Given the description of an element on the screen output the (x, y) to click on. 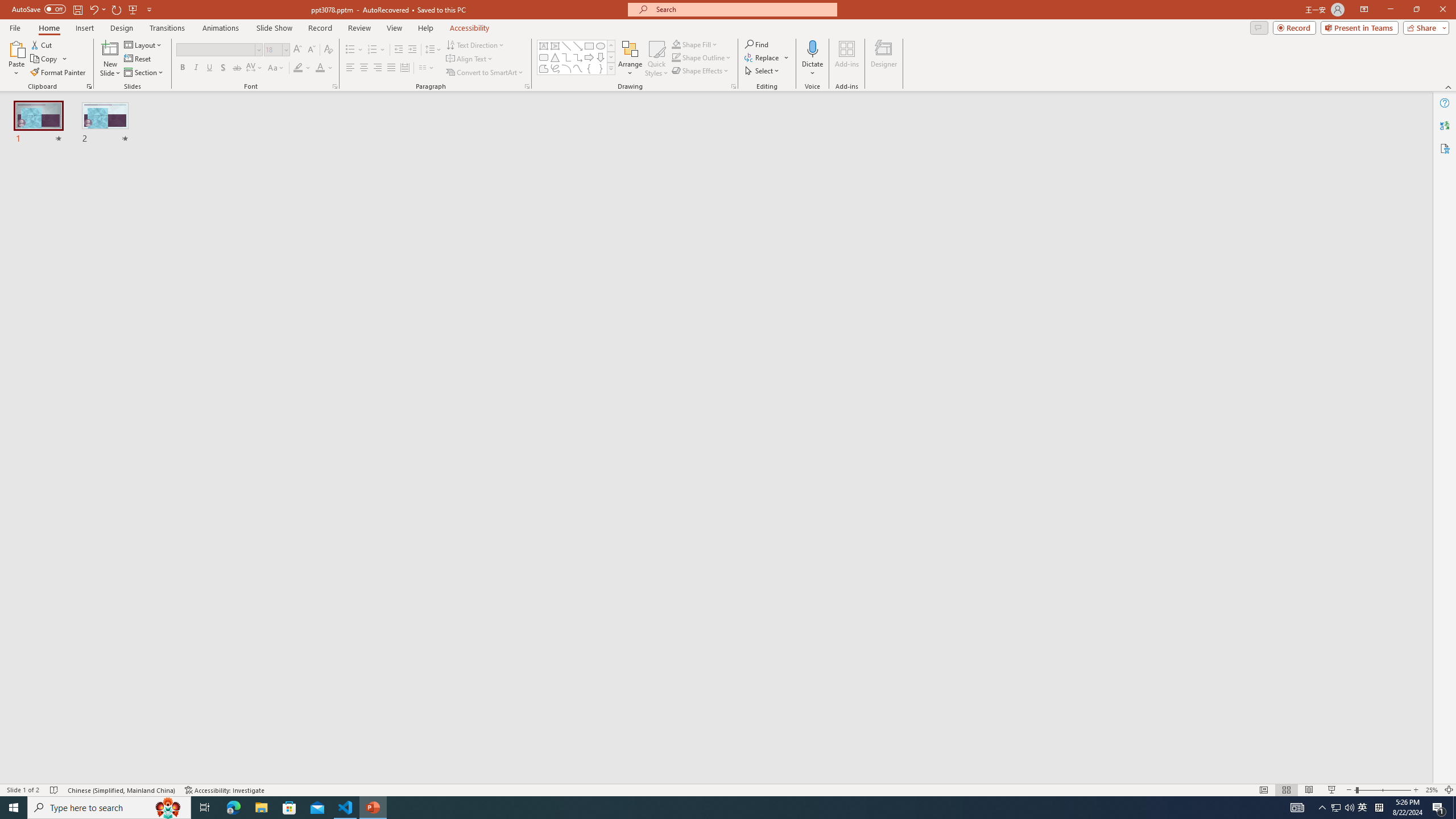
Add Port (366, 334)
Go Back (Alt+LeftArrow) (344, 150)
Extensions (Ctrl+Shift+X) (76, 397)
Class: next-menu next-hoz widgets--iconMenu--BFkiHRM (976, 114)
Close Panel (1033, 182)
